Given the description of an element on the screen output the (x, y) to click on. 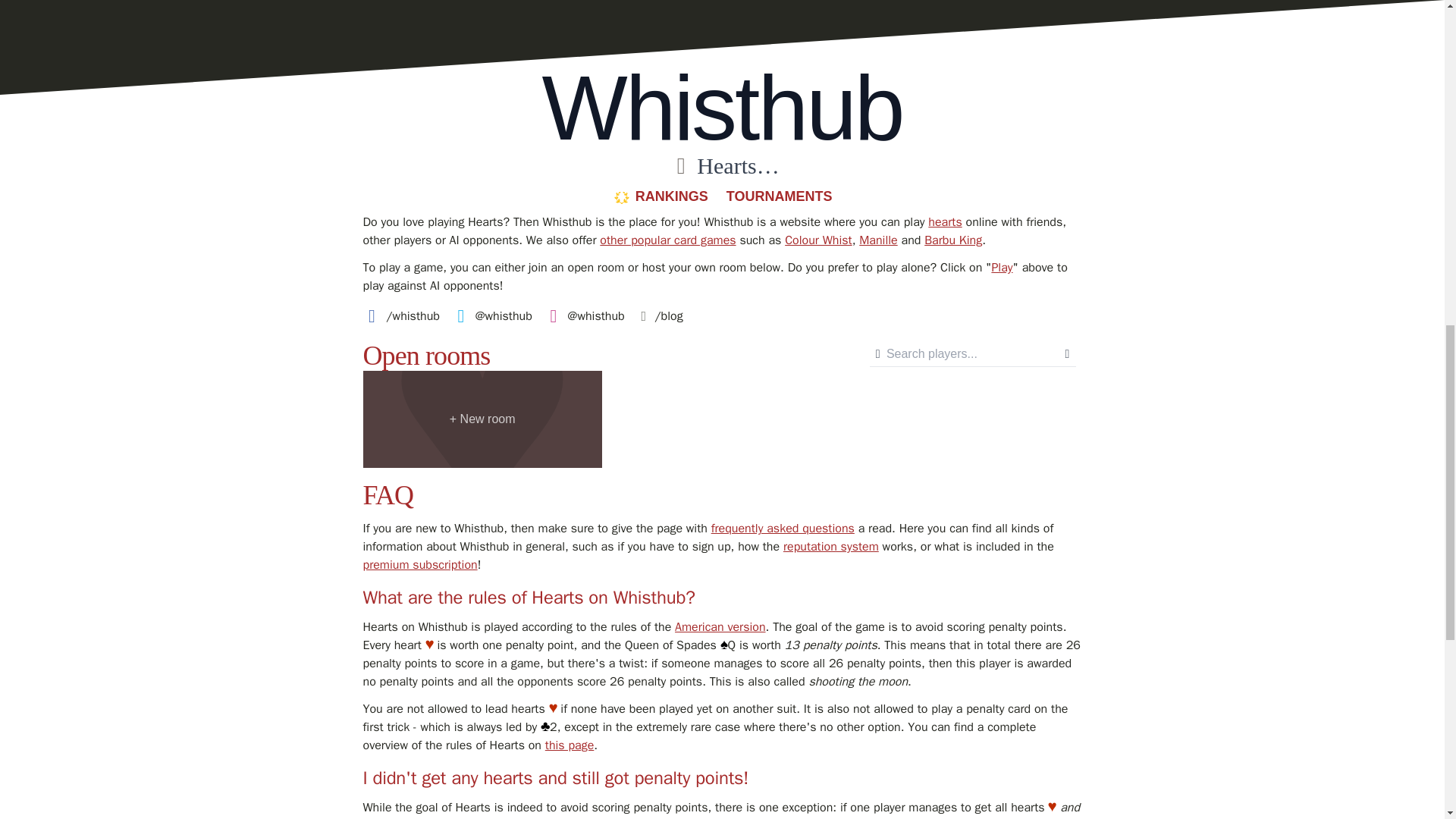
hearts (944, 222)
I didn't get any hearts and still got penalty points! (555, 777)
frequently asked questions (782, 528)
American version (720, 626)
Play (1001, 267)
Manille (877, 240)
RANKINGS (659, 196)
TOURNAMENTS (779, 196)
Open rooms (425, 355)
Barbu King (952, 240)
